Given the description of an element on the screen output the (x, y) to click on. 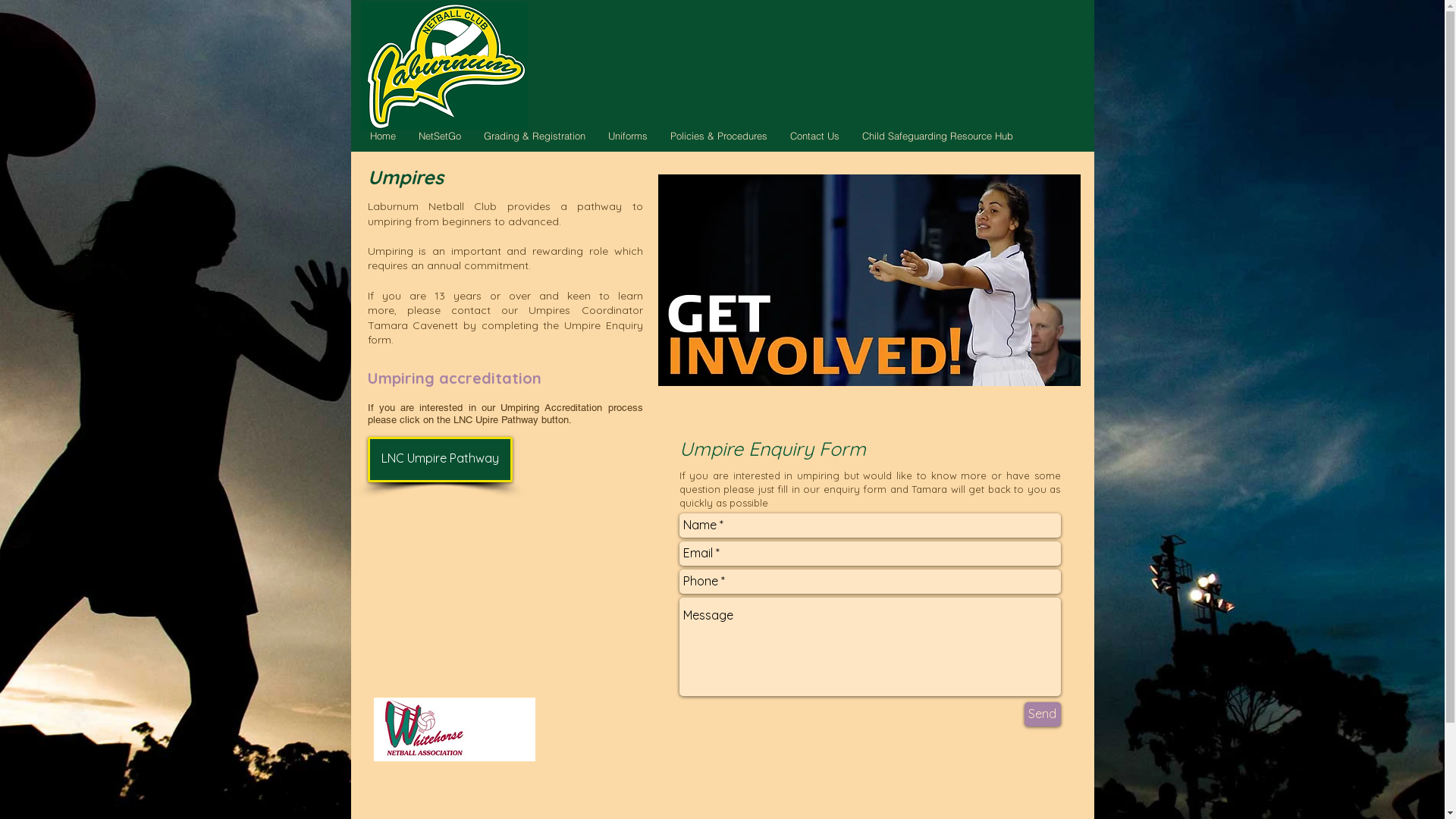
Send Element type: text (1041, 714)
NetSetGo Element type: text (438, 135)
Uniforms Element type: text (627, 135)
Home Element type: text (381, 135)
Policies & Procedures Element type: text (718, 135)
Grading & Registration Element type: text (533, 135)
LNC Umpire Pathway Element type: text (439, 459)
Contact Us Element type: text (814, 135)
Child Safeguarding Resource Hub Element type: text (937, 135)
